Given the description of an element on the screen output the (x, y) to click on. 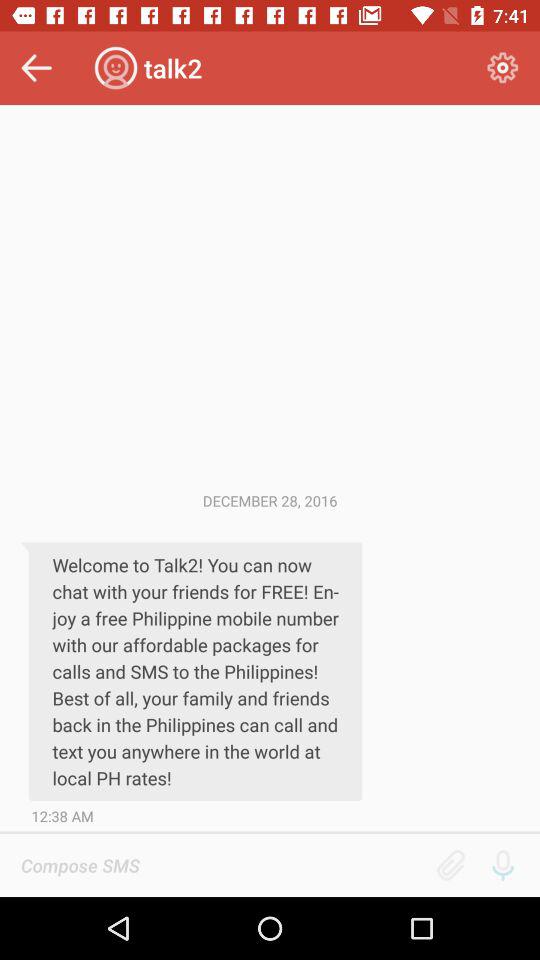
digit the text (222, 865)
